Given the description of an element on the screen output the (x, y) to click on. 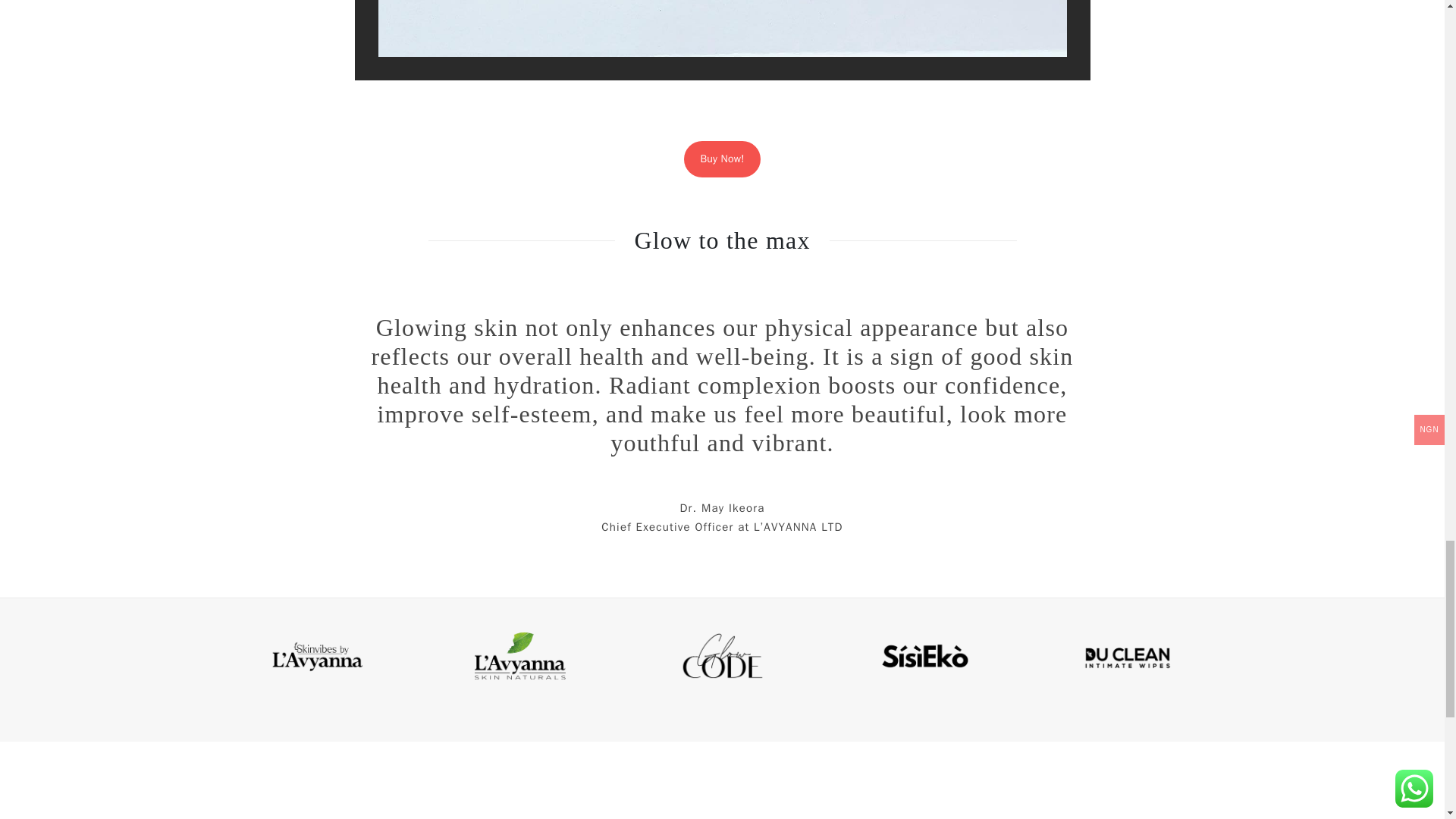
glow-code-10 (722, 38)
Buy Now! (722, 158)
